Given the description of an element on the screen output the (x, y) to click on. 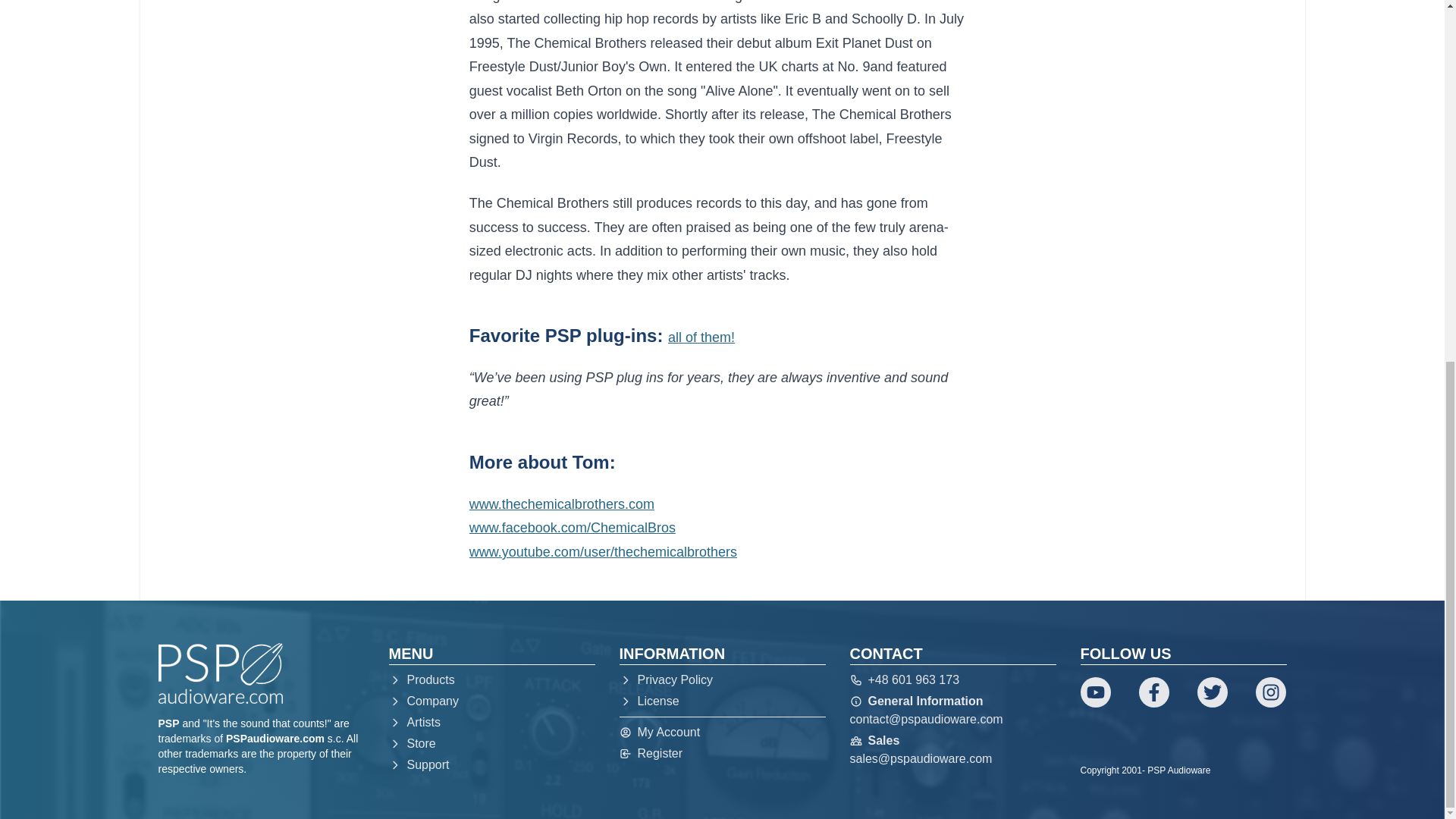
Company (491, 701)
Products (491, 679)
Instagram (1270, 692)
Support (491, 764)
www.thechemicalbrothers.com (560, 503)
License (721, 701)
Twitter (1211, 692)
YouTube (1094, 692)
My Account (721, 732)
Privacy Policy (721, 679)
